Given the description of an element on the screen output the (x, y) to click on. 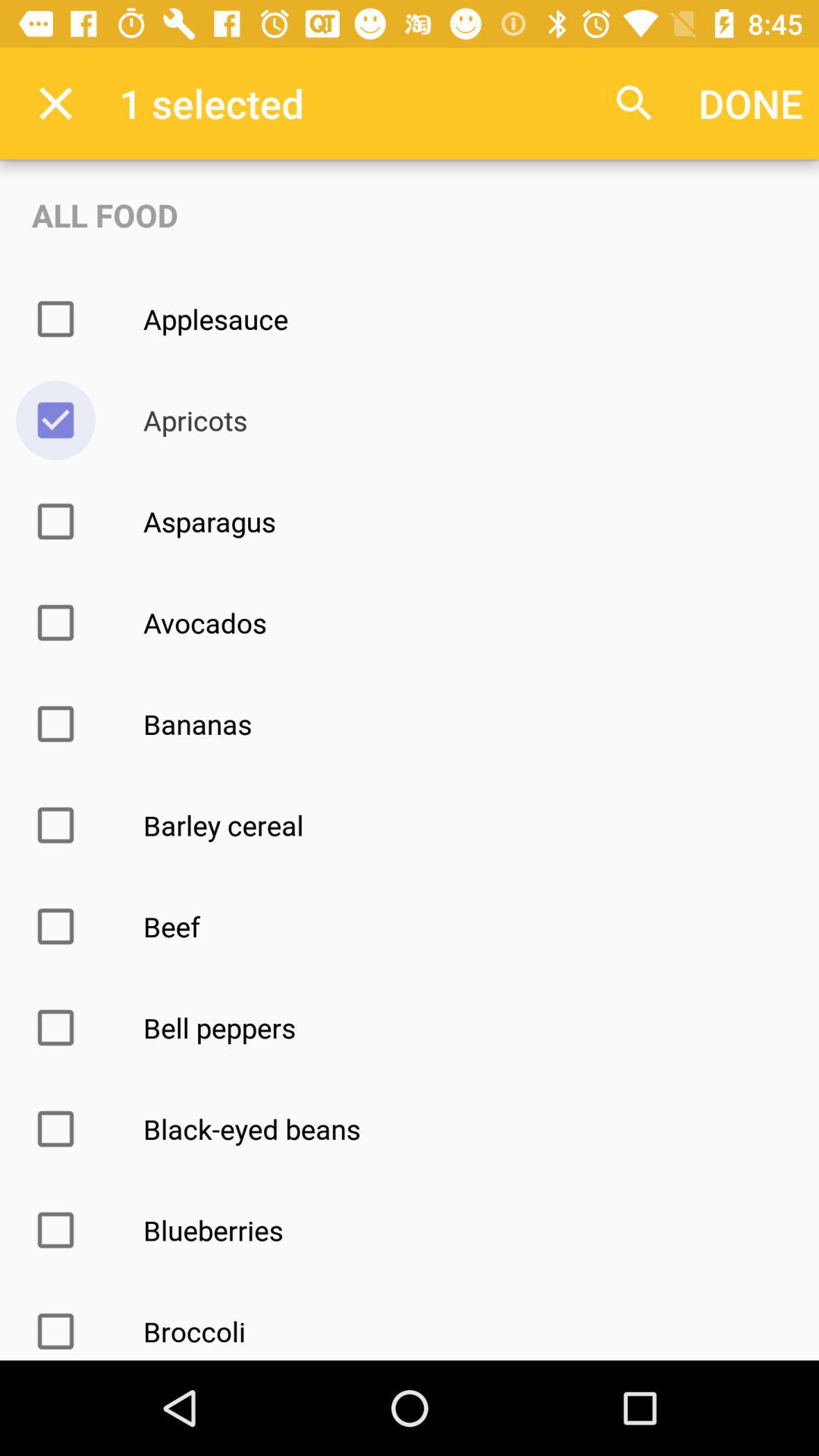
open the app next to 1 selected (55, 103)
